Given the description of an element on the screen output the (x, y) to click on. 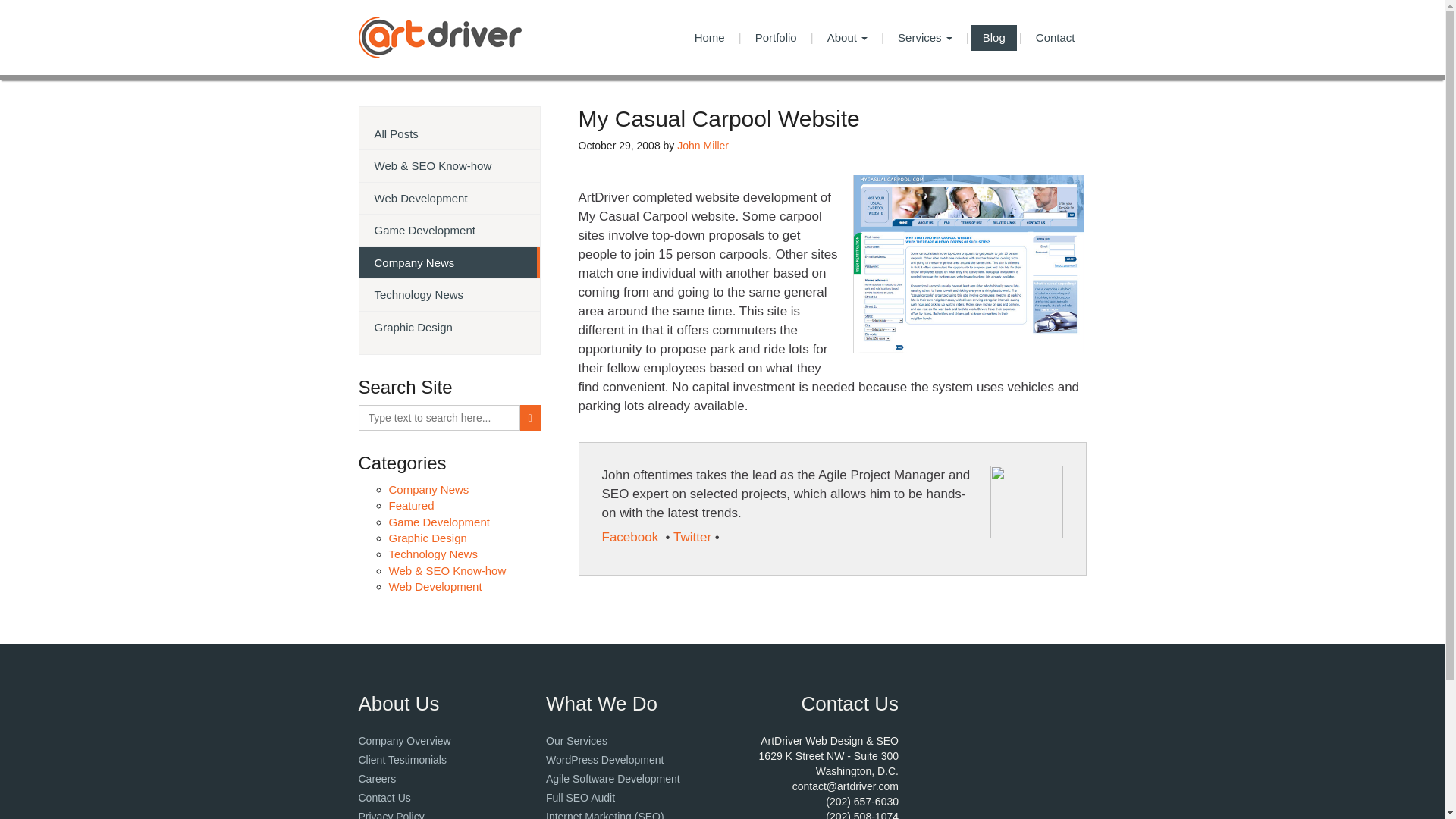
Our Portfolio (776, 37)
Facebook (632, 536)
Company Overview (403, 740)
Web Development, Software Development and SEO Services (576, 740)
Web Development and SEO Blog (993, 37)
My Casual Carpool Website (968, 263)
Graphic Design (449, 327)
Technology News (432, 553)
Twitter (691, 536)
Company Overview (403, 740)
